Given the description of an element on the screen output the (x, y) to click on. 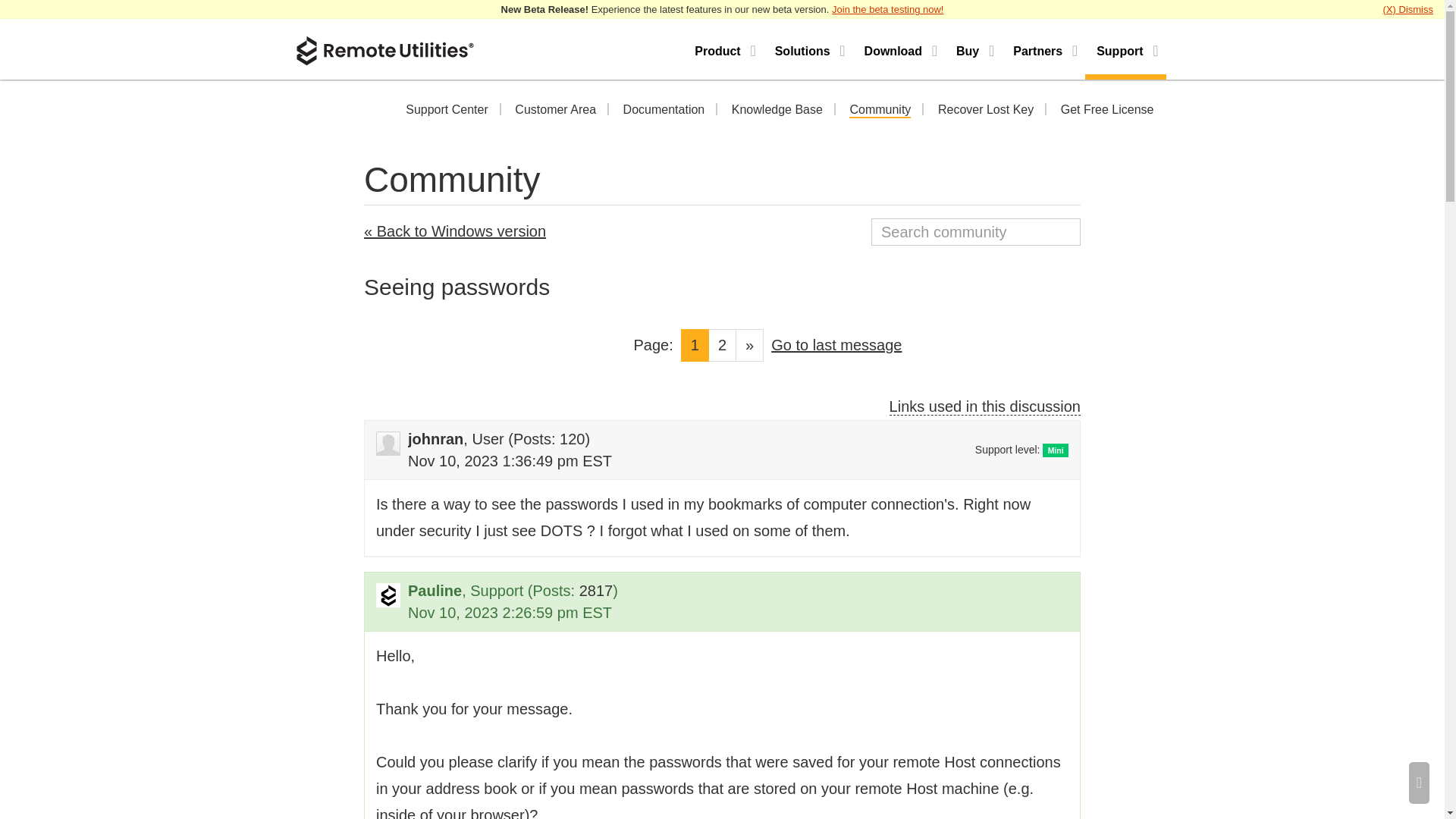
Support Center (446, 110)
Partners (1042, 48)
Join the beta testing now! (887, 9)
Support (1125, 48)
Solutions (807, 48)
Buy (972, 48)
Download (898, 48)
Product (722, 48)
